Given the description of an element on the screen output the (x, y) to click on. 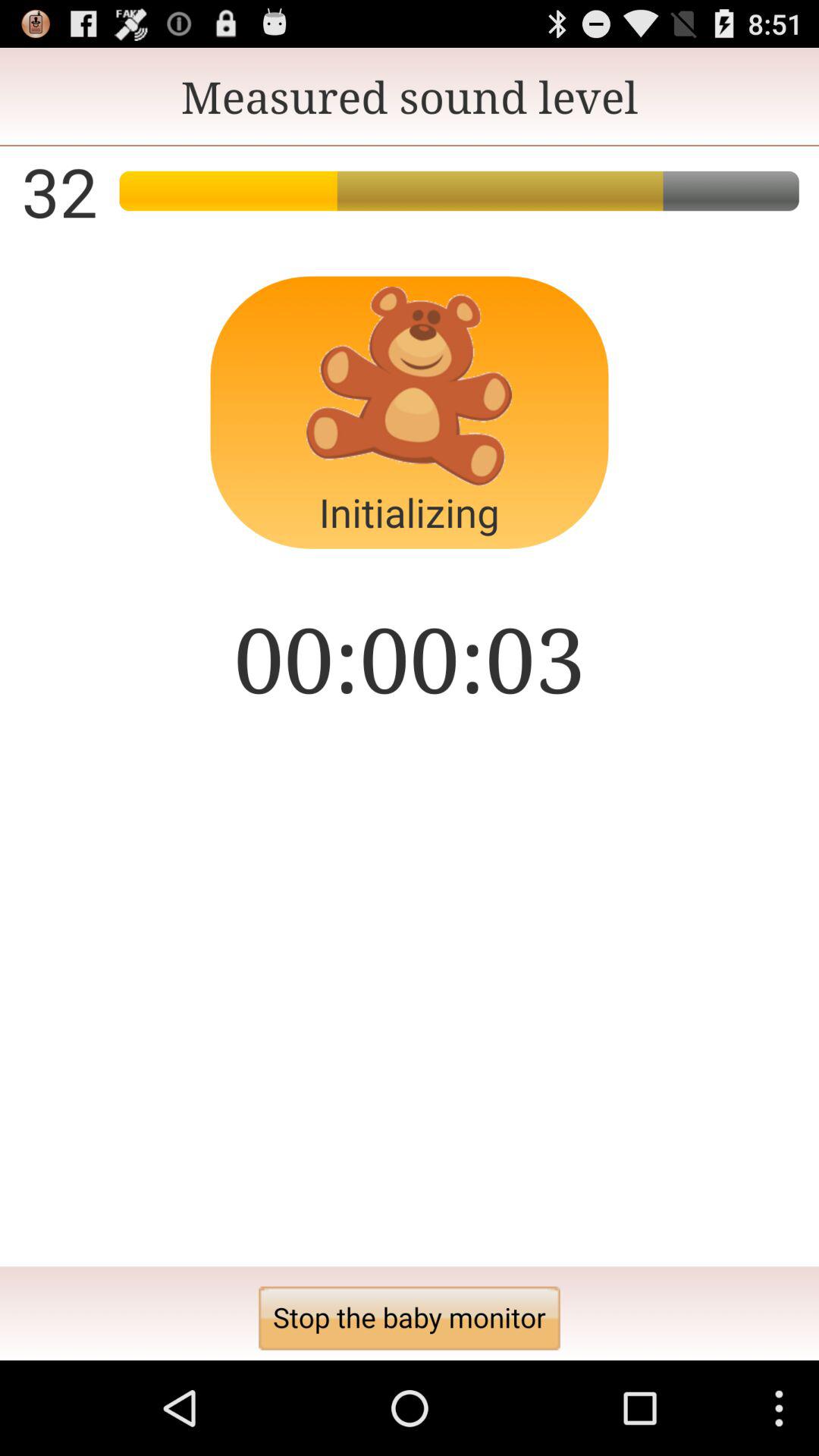
launch the app below the 00:00:04 icon (409, 1318)
